Given the description of an element on the screen output the (x, y) to click on. 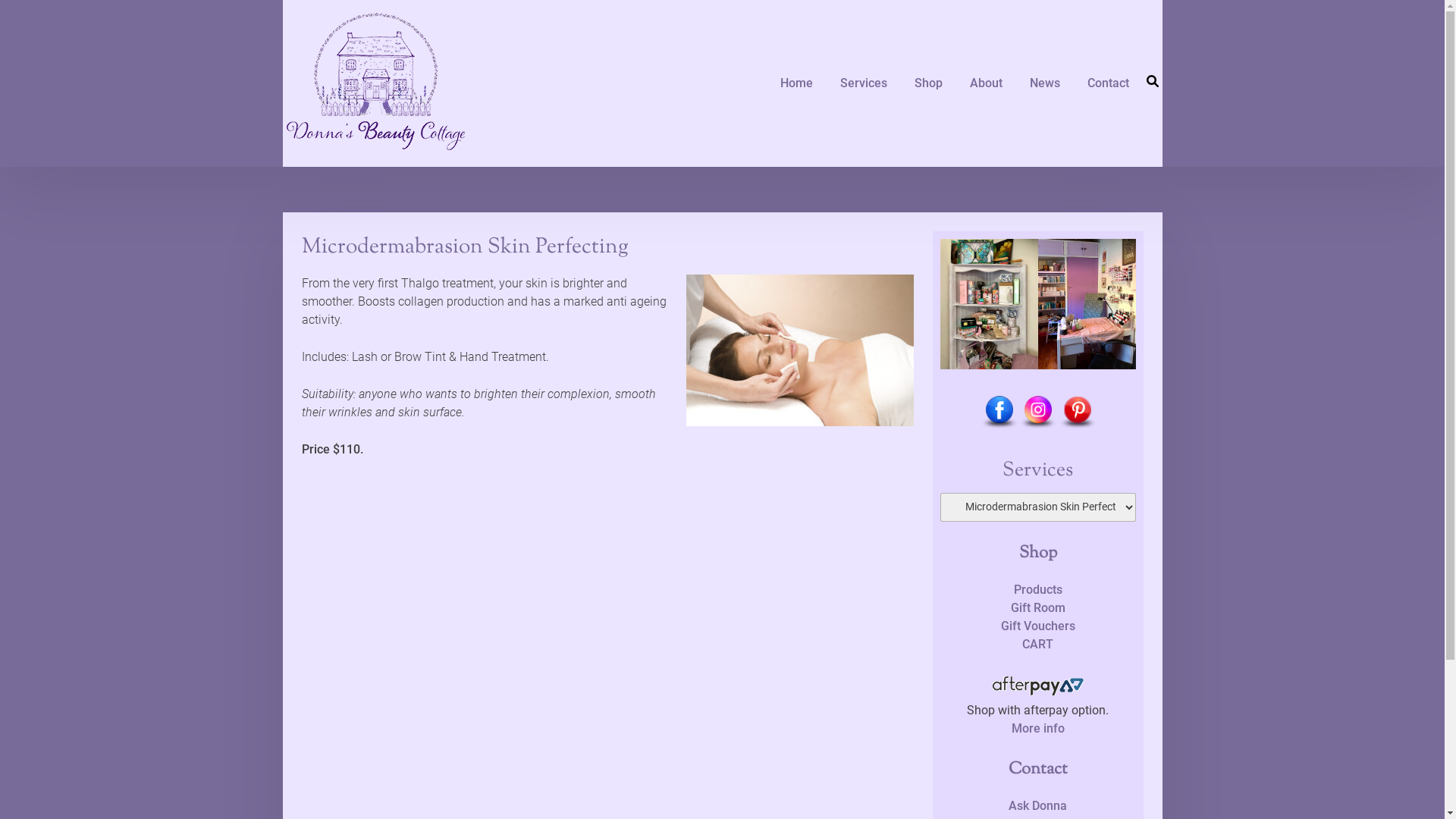
CART Element type: text (1037, 644)
Home Element type: text (795, 82)
About Element type: text (985, 82)
More info Element type: text (1037, 728)
Ask Donna Element type: text (1037, 805)
News Element type: text (1044, 82)
T53 Element type: hover (799, 350)
Shop Element type: text (928, 82)
Visit Us On Instagram Element type: hover (1037, 427)
Microdermabrasion Skin Perfecting Element type: text (464, 247)
Products Element type: text (1037, 589)
Visit Us On Facebook Element type: hover (998, 427)
Services Element type: text (863, 82)
Visit Us On Pinterest Element type: hover (1076, 427)
Gift Room Element type: text (1037, 607)
Gift Vouchers Element type: text (1038, 625)
Contact Element type: text (1107, 82)
